Given the description of an element on the screen output the (x, y) to click on. 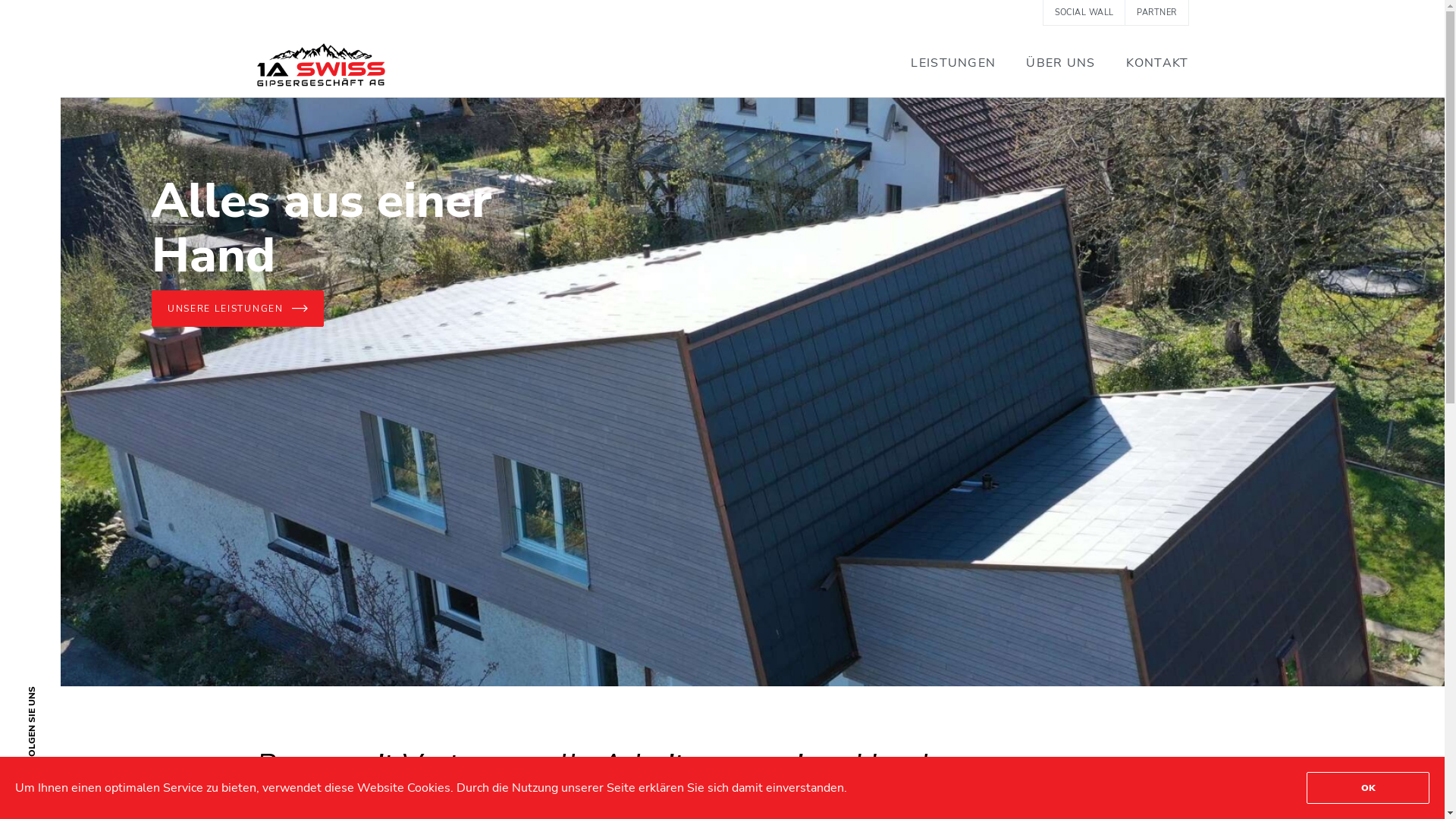
KONTAKT Element type: text (1157, 62)
UNSERE LEISTUNGEN Element type: text (237, 308)
PARTNER Element type: text (1156, 12)
OK Element type: text (1367, 787)
SOCIAL WALL Element type: text (1084, 12)
LEISTUNGEN Element type: text (952, 62)
